Given the description of an element on the screen output the (x, y) to click on. 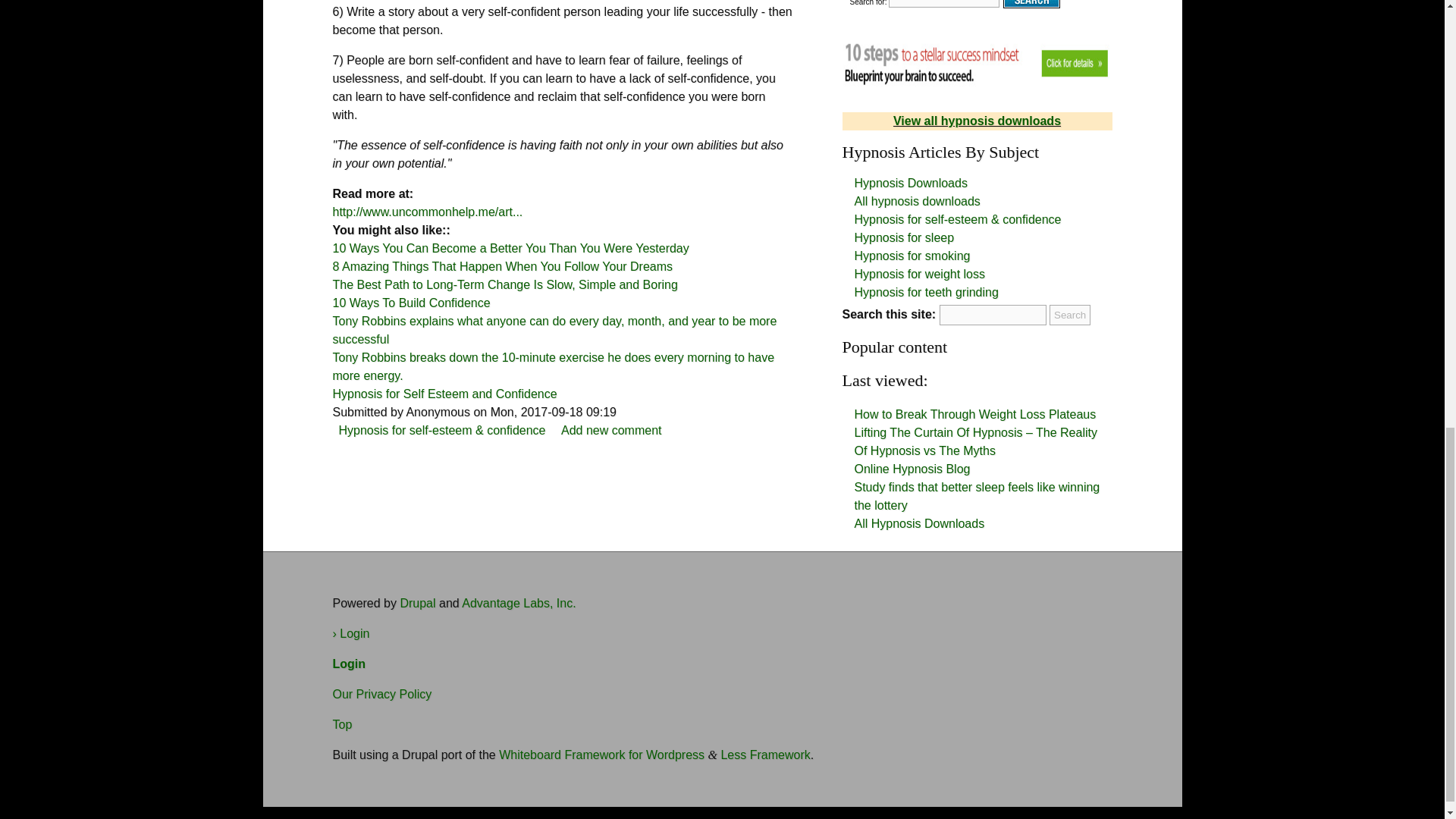
View all hypnosis downloads (977, 120)
10 Ways You Can Become a Better You Than You Were Yesterday (509, 247)
Hypnosis for Self Esteem and Confidence (443, 393)
Search (1069, 314)
Share your thoughts and opinions related to this posting. (611, 430)
Hypnosis Downloads (909, 182)
10 Ways To Build Confidence (410, 302)
All hypnosis downloads (916, 201)
The Best Path to Long-Term Change Is Slow, Simple and Boring (504, 284)
Add new comment (611, 430)
8 Amazing Things That Happen When You Follow Your Dreams (501, 266)
10 steps to success (977, 60)
